Given the description of an element on the screen output the (x, y) to click on. 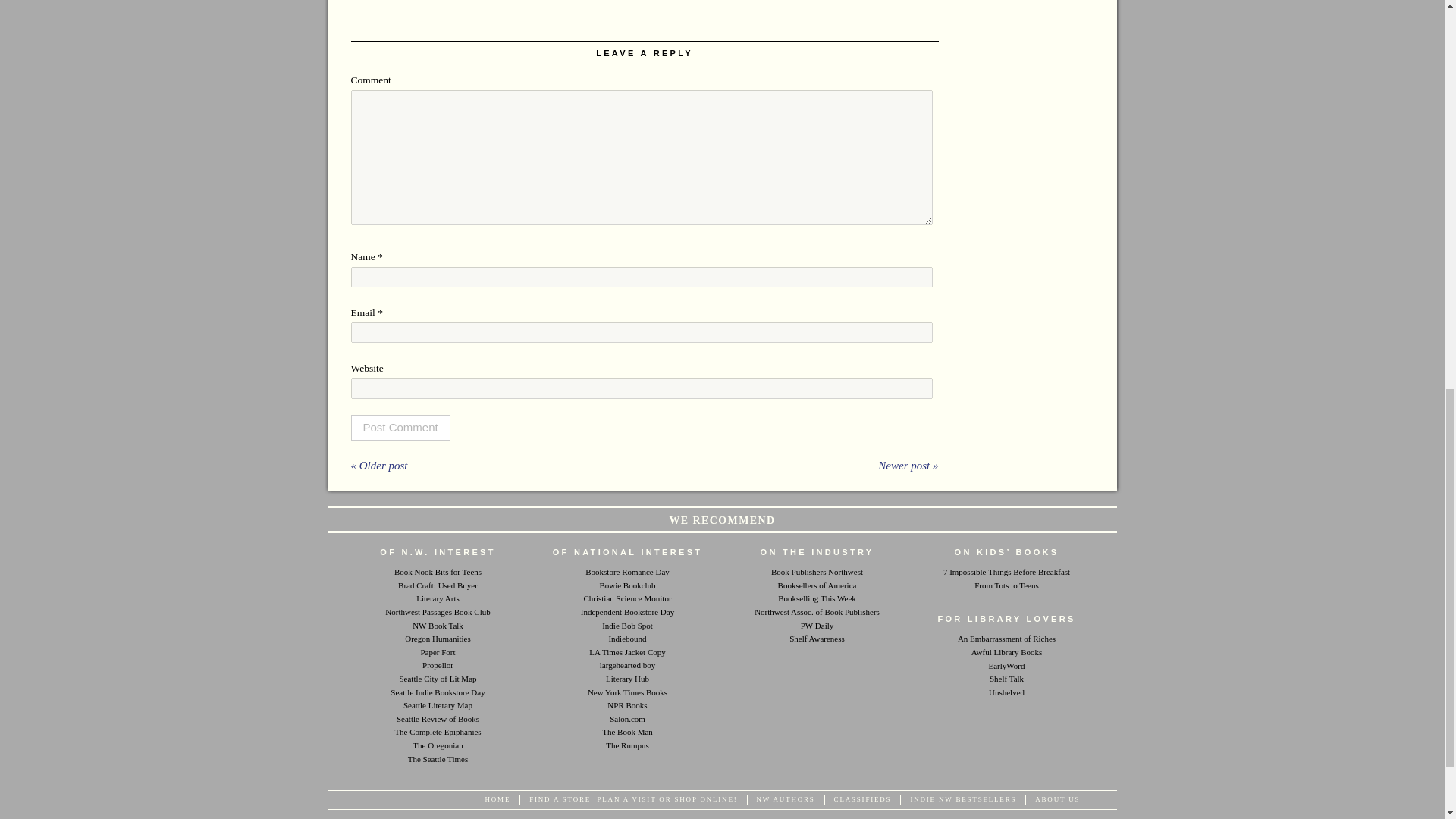
Aria is a teen book blogger from Eugene, OR (437, 571)
Post Comment (399, 427)
The Brian Doyle collection at The American Scholar (437, 731)
Post Comment (399, 427)
Book and Bible Repair (627, 731)
Support and celebrate your local indie! (627, 612)
Book recs and author interviews from the beautiful Northwest (437, 625)
